Given the description of an element on the screen output the (x, y) to click on. 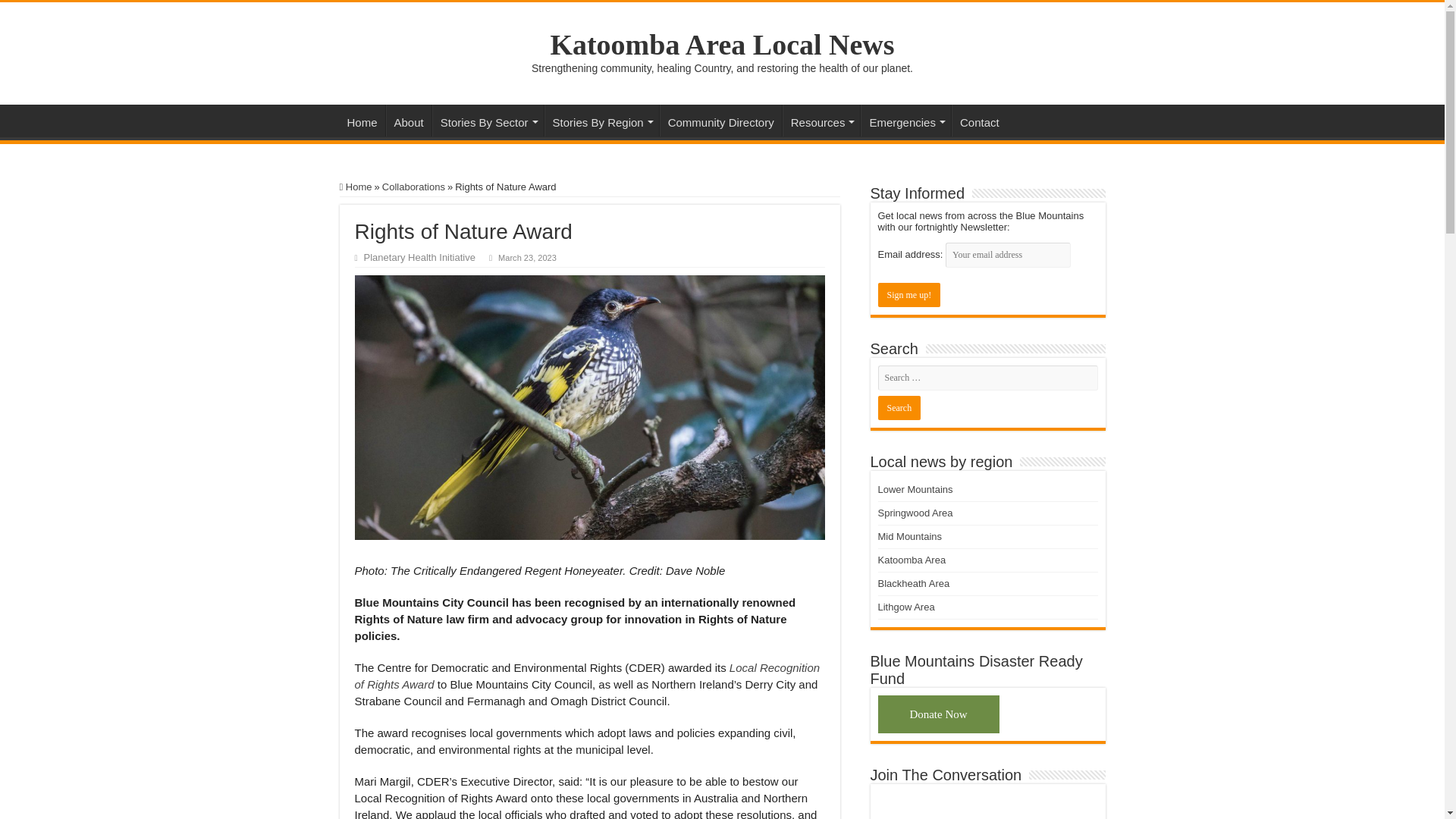
About (407, 120)
Search (899, 407)
Stories By Sector (487, 120)
Home (362, 120)
Sign me up! (908, 294)
Support Us (937, 714)
Search (899, 407)
Katoomba Area Local News (721, 44)
